Given the description of an element on the screen output the (x, y) to click on. 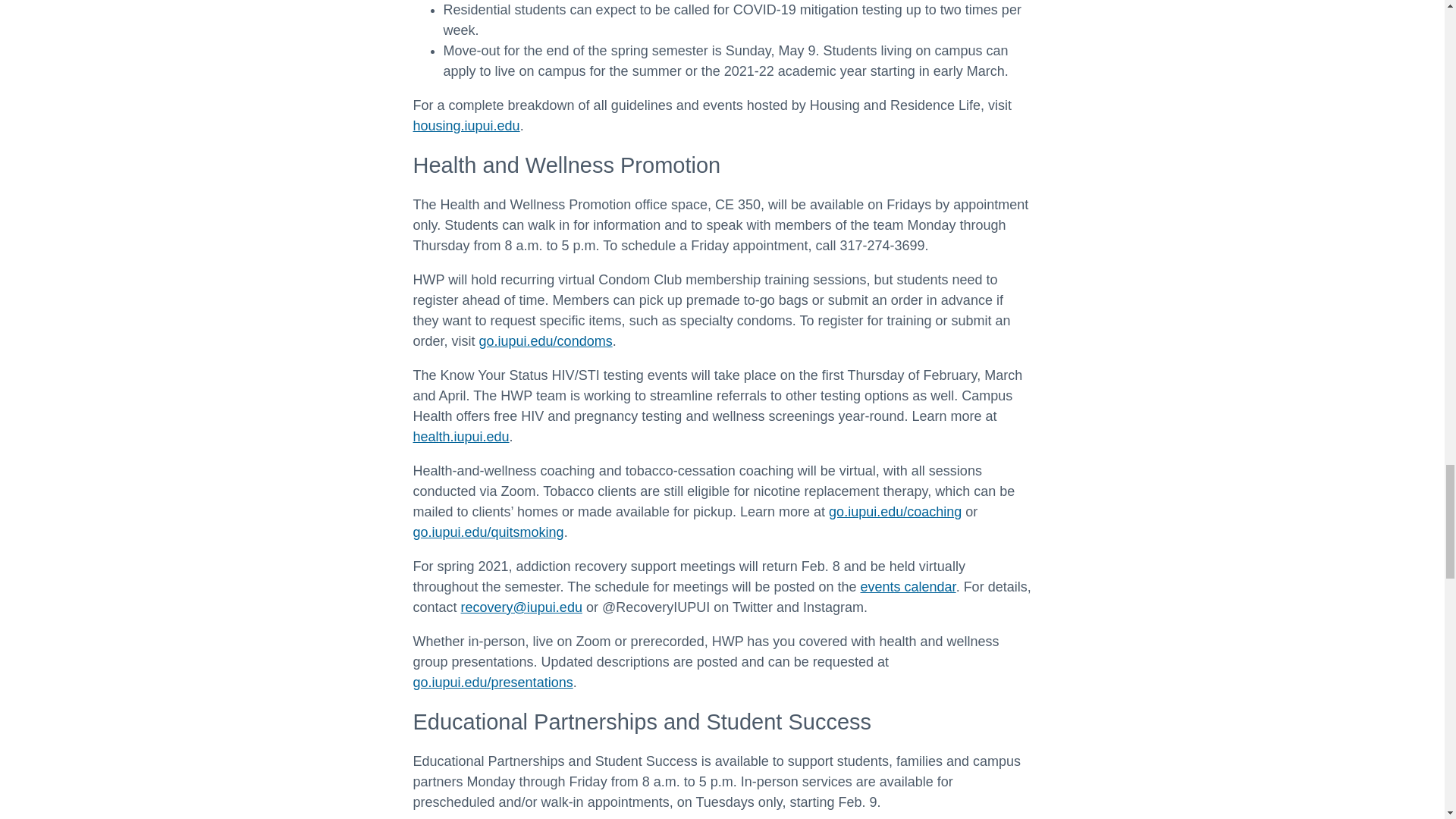
housing.iupui.edu (465, 125)
health.iupui.edu (460, 436)
events calendar (908, 586)
